Given the description of an element on the screen output the (x, y) to click on. 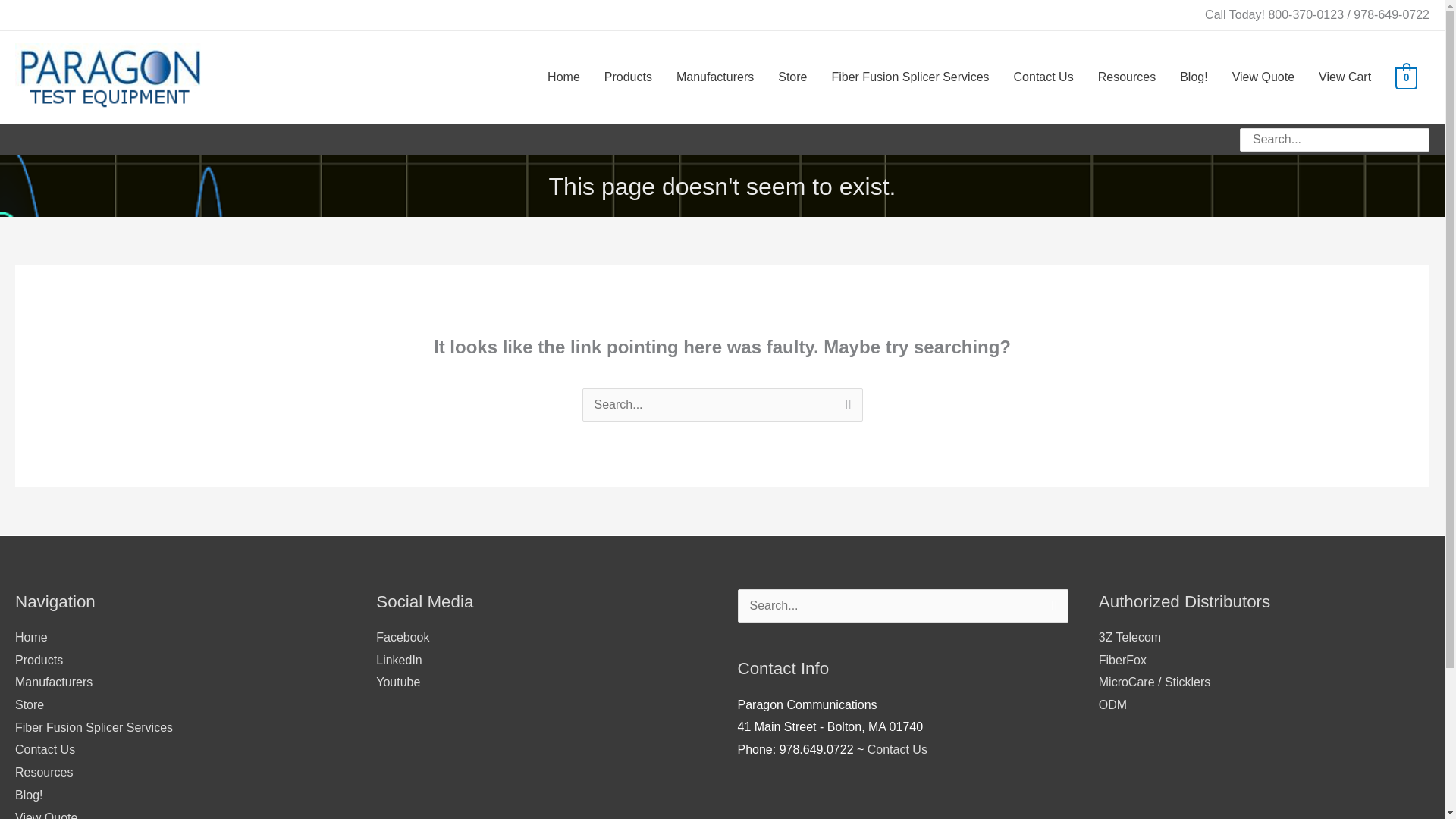
Store (791, 77)
Home (563, 77)
Home (31, 636)
Resources (1126, 77)
Contact Us (1043, 77)
Blog! (28, 794)
Manufacturers (714, 77)
Products (627, 77)
Contact Us (44, 748)
View Quote (45, 815)
Contact Us (897, 748)
Store (28, 704)
Fiber Fusion Splicer Services (93, 727)
0 (1405, 76)
ODM (1112, 704)
